Given the description of an element on the screen output the (x, y) to click on. 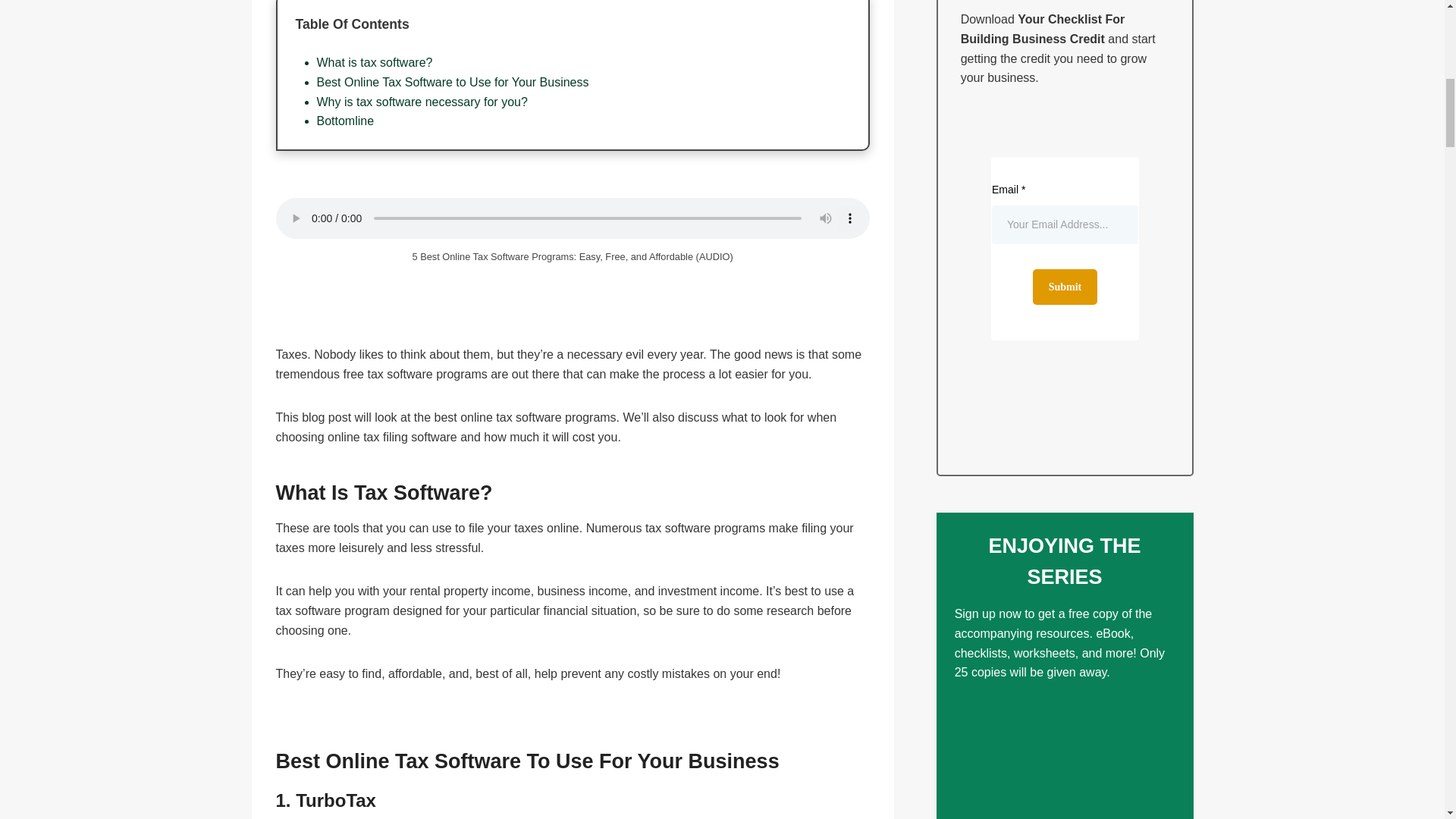
Bottomline (345, 120)
Why is tax software necessary for you? (422, 101)
What is tax software? (374, 62)
Best Online Tax Software to Use for Your Business (453, 82)
